Given the description of an element on the screen output the (x, y) to click on. 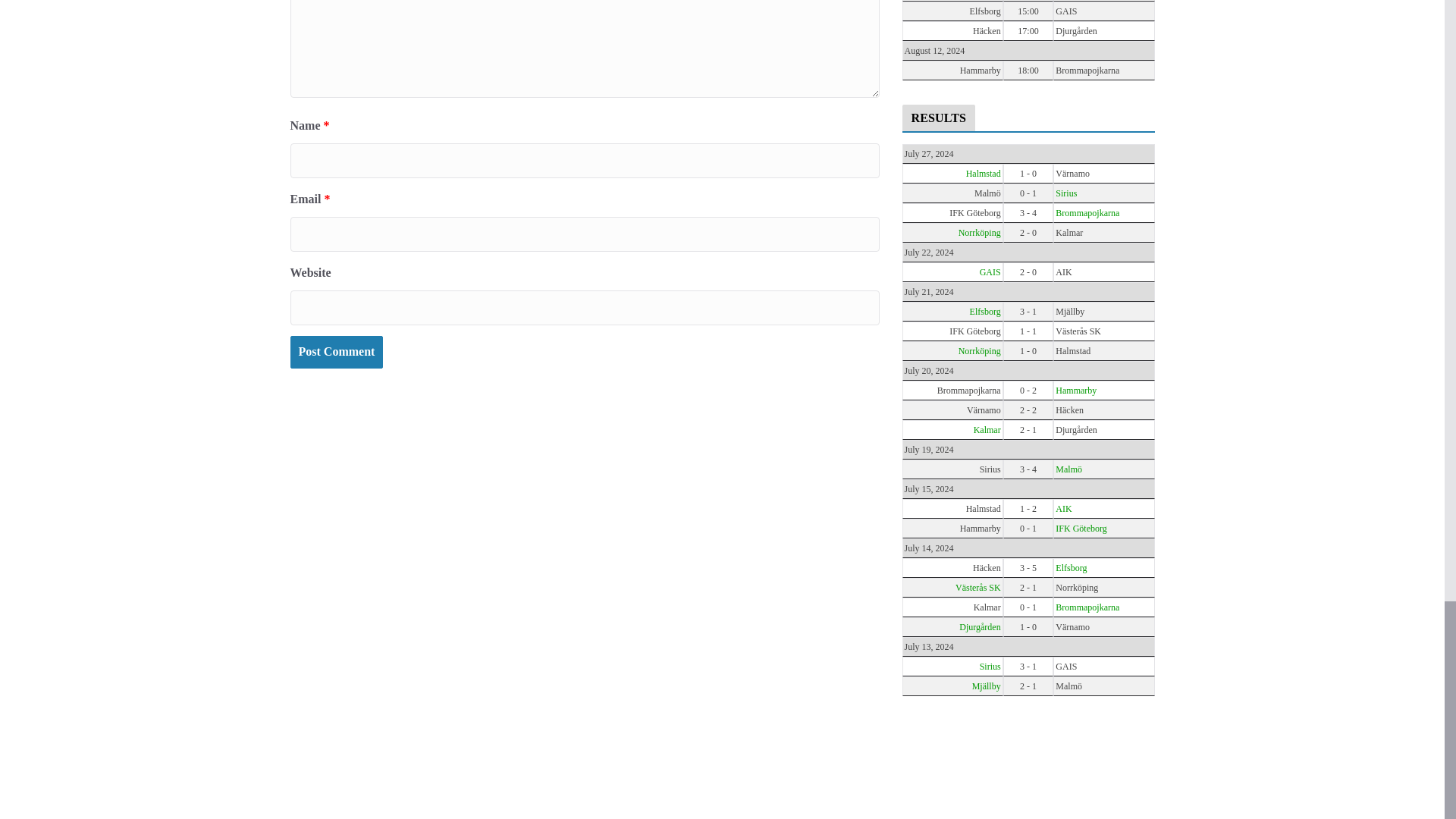
Post Comment (335, 351)
